Given the description of an element on the screen output the (x, y) to click on. 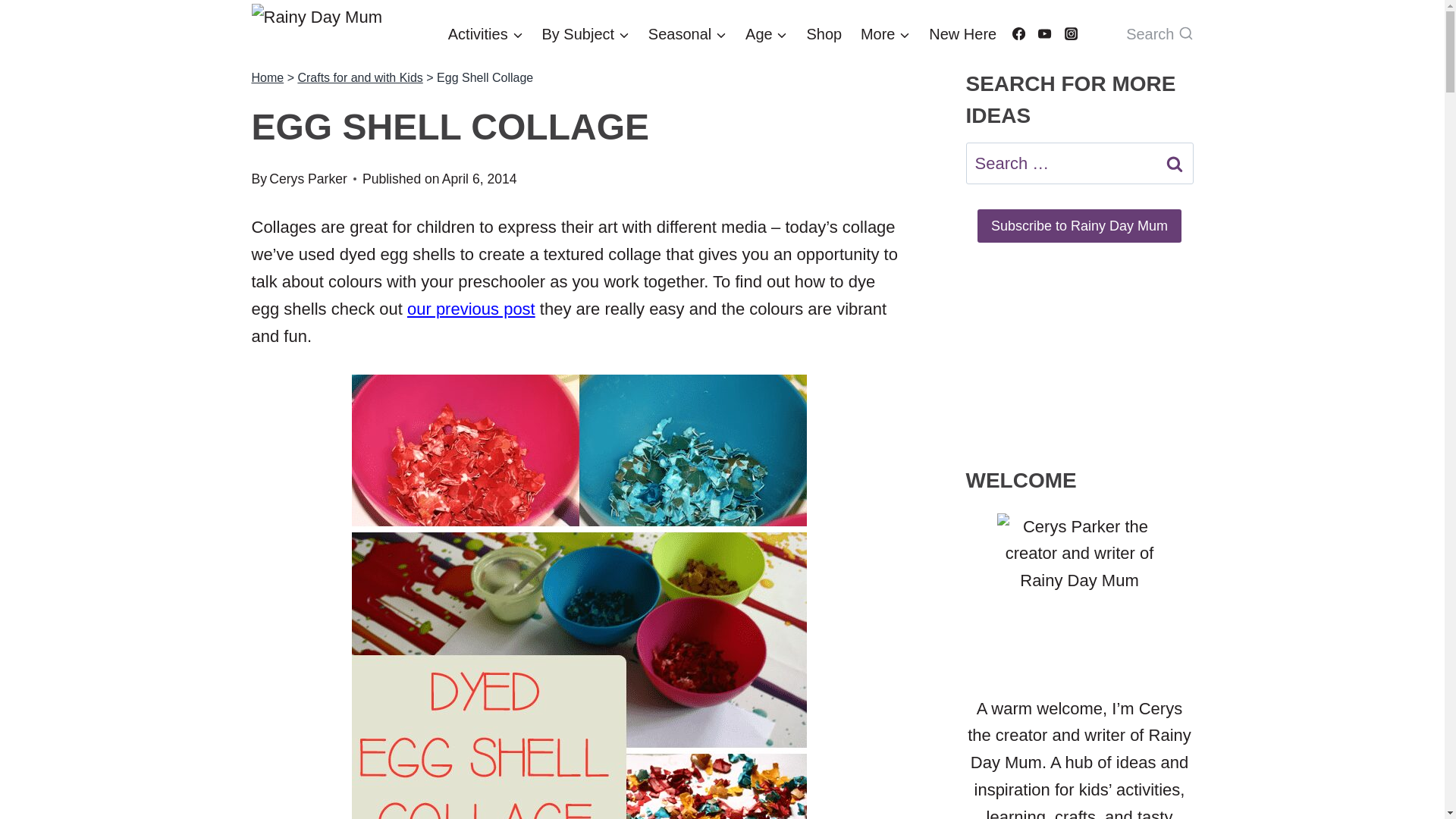
By Subject (585, 34)
Seasonal (687, 34)
Search (1174, 163)
Age (766, 34)
Search (1158, 33)
Search (1174, 163)
Shop (823, 34)
More (885, 34)
How to dye egg shells for art (471, 308)
Activities (485, 34)
New Here (963, 34)
